Given the description of an element on the screen output the (x, y) to click on. 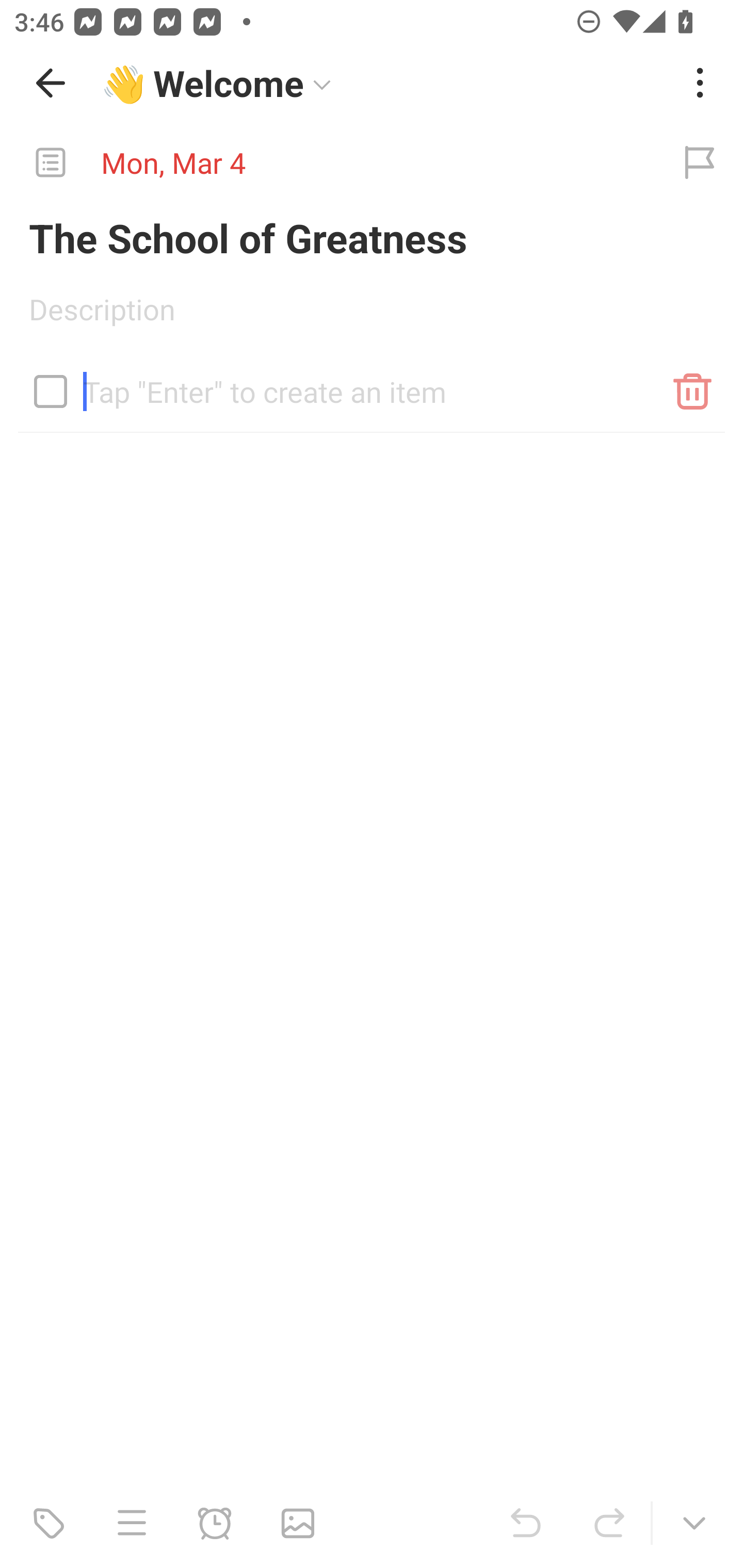
👋 Welcome (384, 82)
Mon, Mar 4  (328, 163)
The School of Greatness (371, 237)
Description (371, 315)
  (50, 390)
Tap "Enter" to create an item (371, 383)
